Given the description of an element on the screen output the (x, y) to click on. 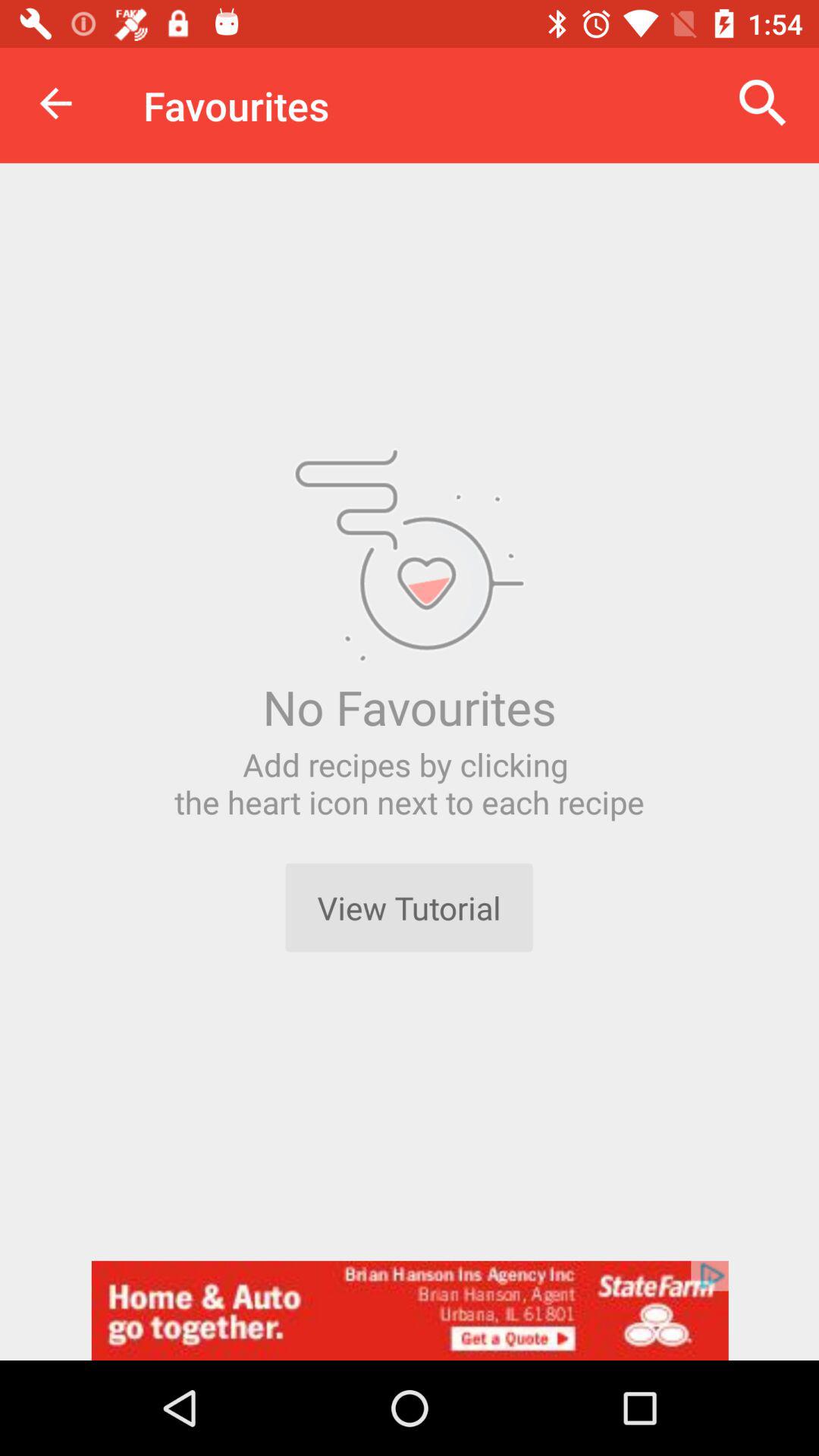
open advertisement (409, 1310)
